Given the description of an element on the screen output the (x, y) to click on. 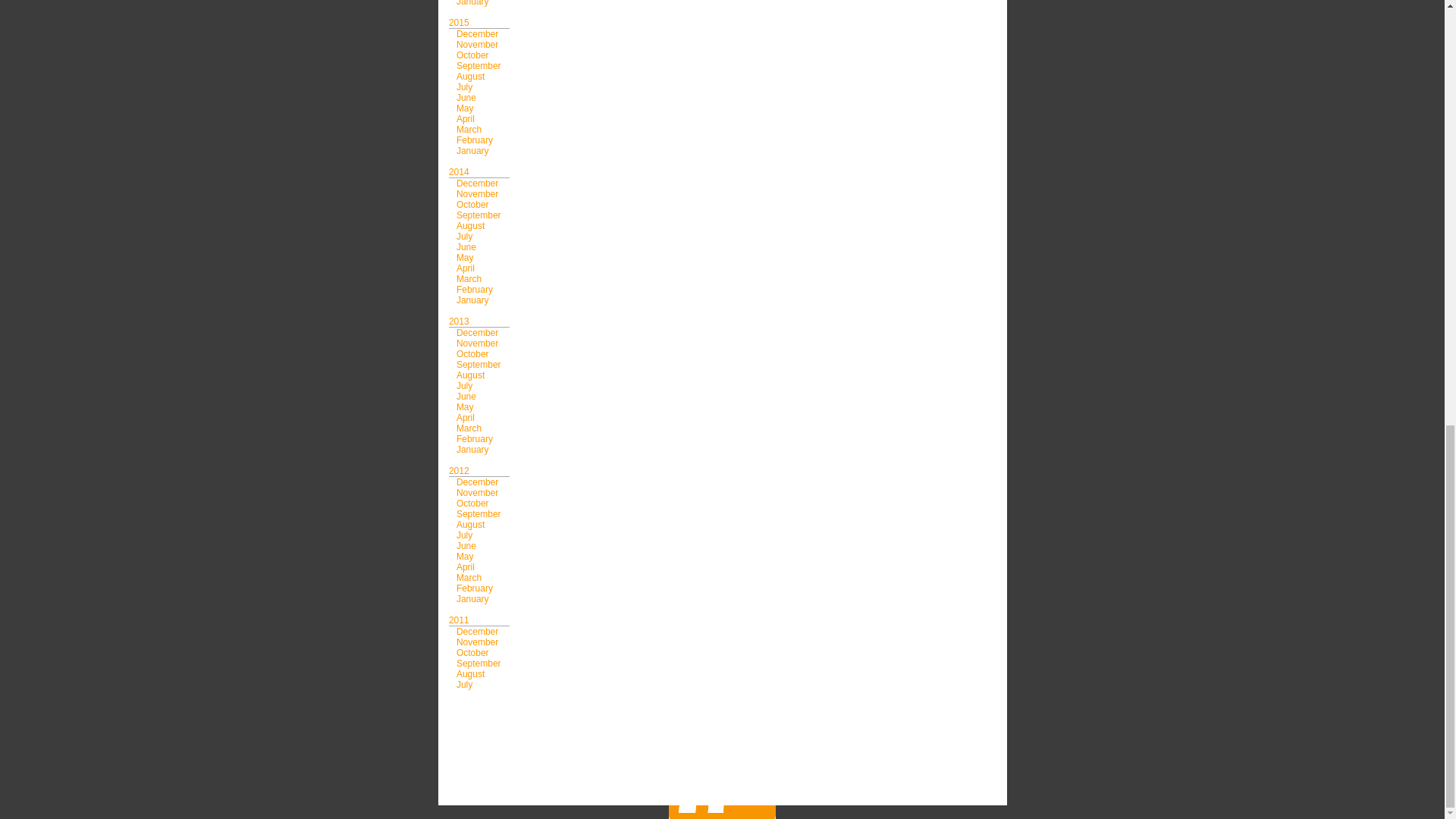
December (477, 33)
March (469, 129)
May (465, 108)
April (465, 118)
October (473, 54)
August (470, 76)
September (478, 65)
June (466, 97)
November (477, 44)
January (473, 3)
